Given the description of an element on the screen output the (x, y) to click on. 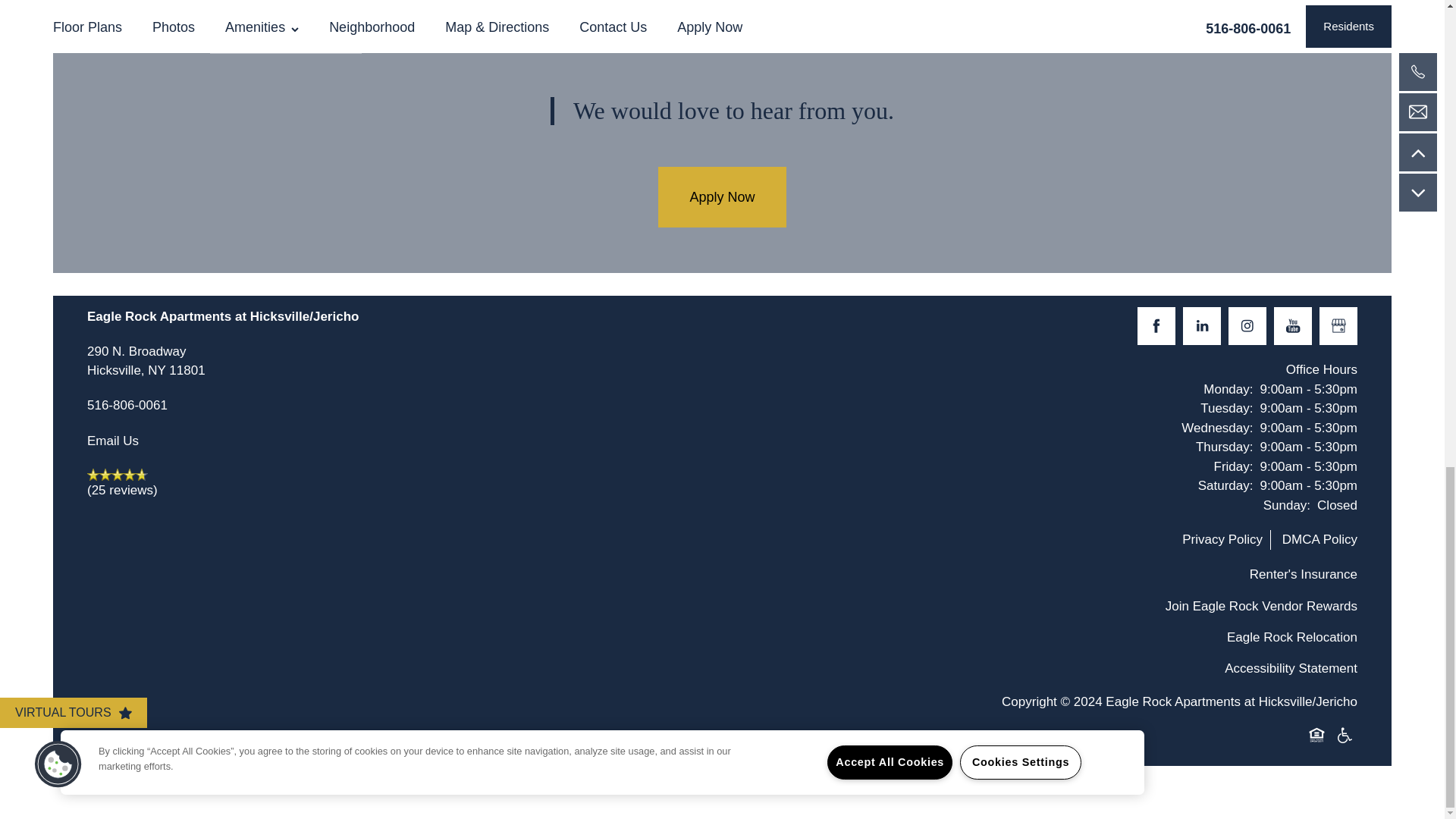
Apply Now (722, 197)
Property Phone Number (127, 407)
Facebook (1155, 325)
YouTube (1292, 325)
LinkedIn (1201, 325)
Google My Business (146, 361)
Instagram (1337, 325)
